Given the description of an element on the screen output the (x, y) to click on. 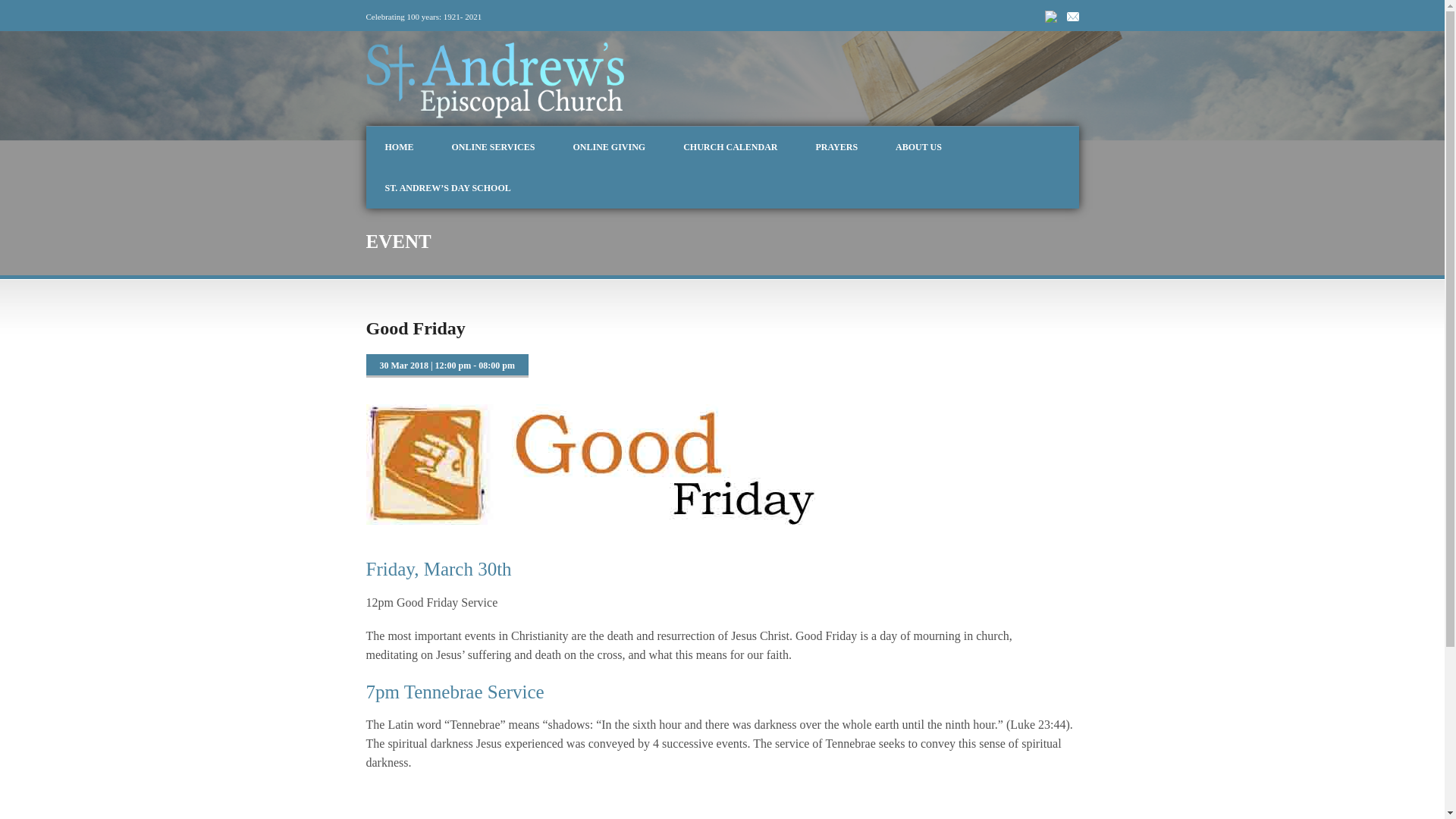
Good Friday (414, 328)
HOME (398, 146)
ONLINE SERVICES (492, 146)
ABOUT US (918, 146)
PRAYERS (836, 146)
ONLINE GIVING (608, 146)
CHURCH CALENDAR (729, 146)
